Given the description of an element on the screen output the (x, y) to click on. 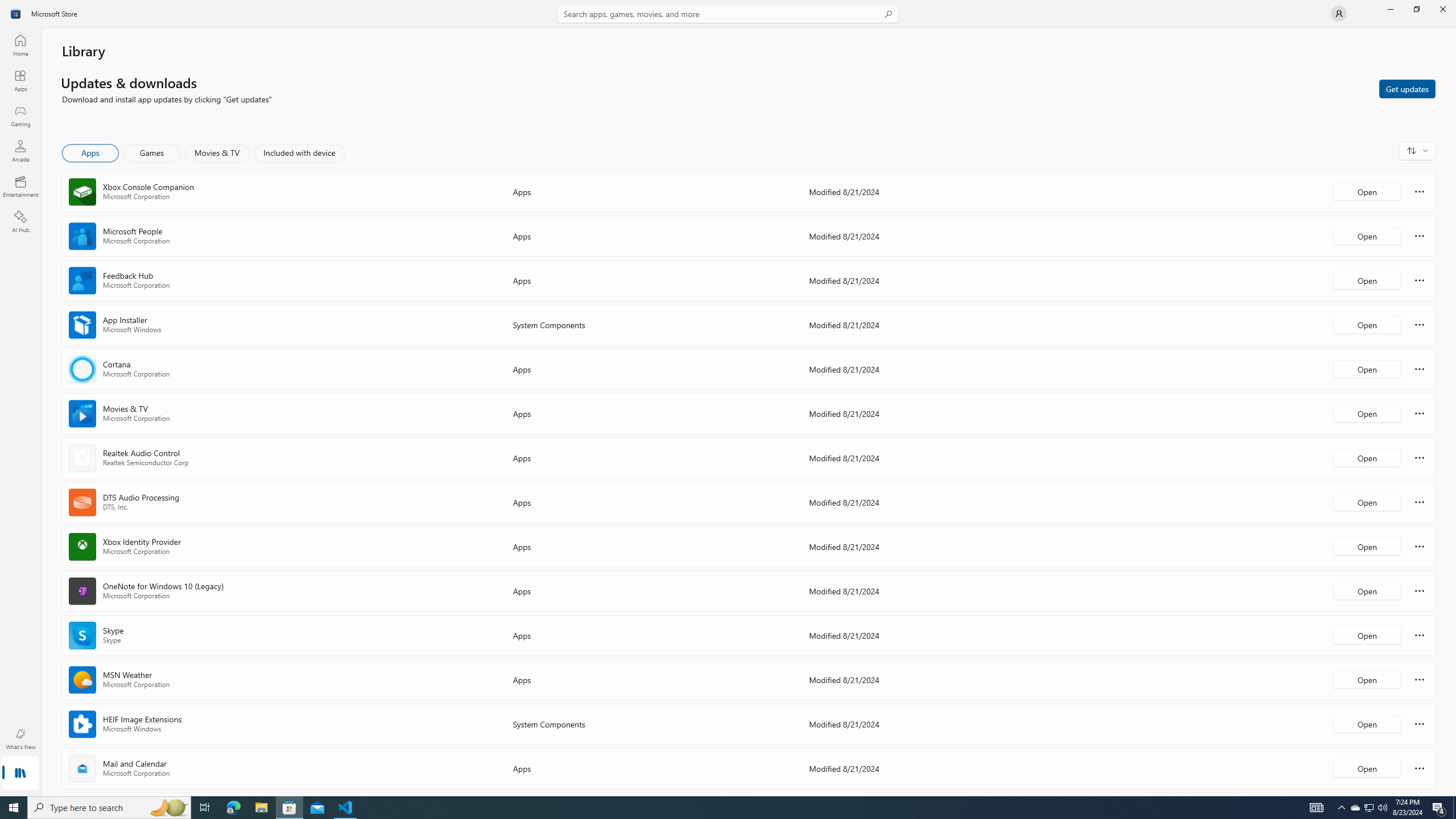
Open (1366, 768)
Search (727, 13)
Apps (90, 153)
Gaming (20, 115)
Apps (20, 80)
Movies & TV (216, 153)
Arcade (20, 150)
Library (20, 773)
